Given the description of an element on the screen output the (x, y) to click on. 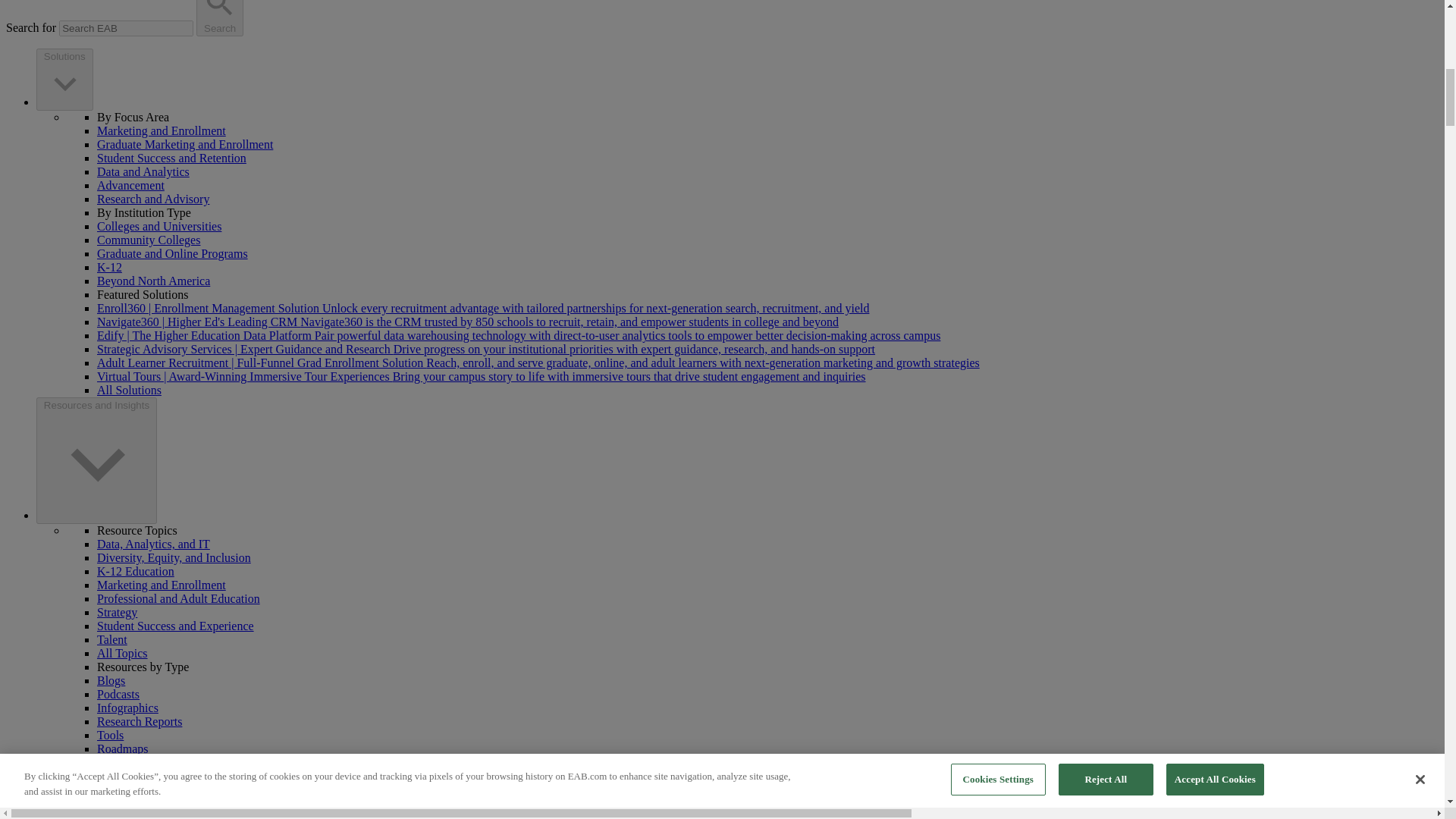
Research Reports (139, 721)
Data, Analytics, and IT (153, 543)
Solutions (64, 79)
Data and Analytics (143, 171)
Diversity, Equity, and Inclusion (173, 557)
Podcasts (118, 694)
Colleges and Universities (159, 226)
K-12 Education (135, 571)
Strategy (116, 612)
K-12 (109, 267)
Blogs (111, 680)
All Solutions (129, 390)
Talent (112, 639)
Community Colleges (148, 239)
Graduate Marketing and Enrollment (185, 144)
